Given the description of an element on the screen output the (x, y) to click on. 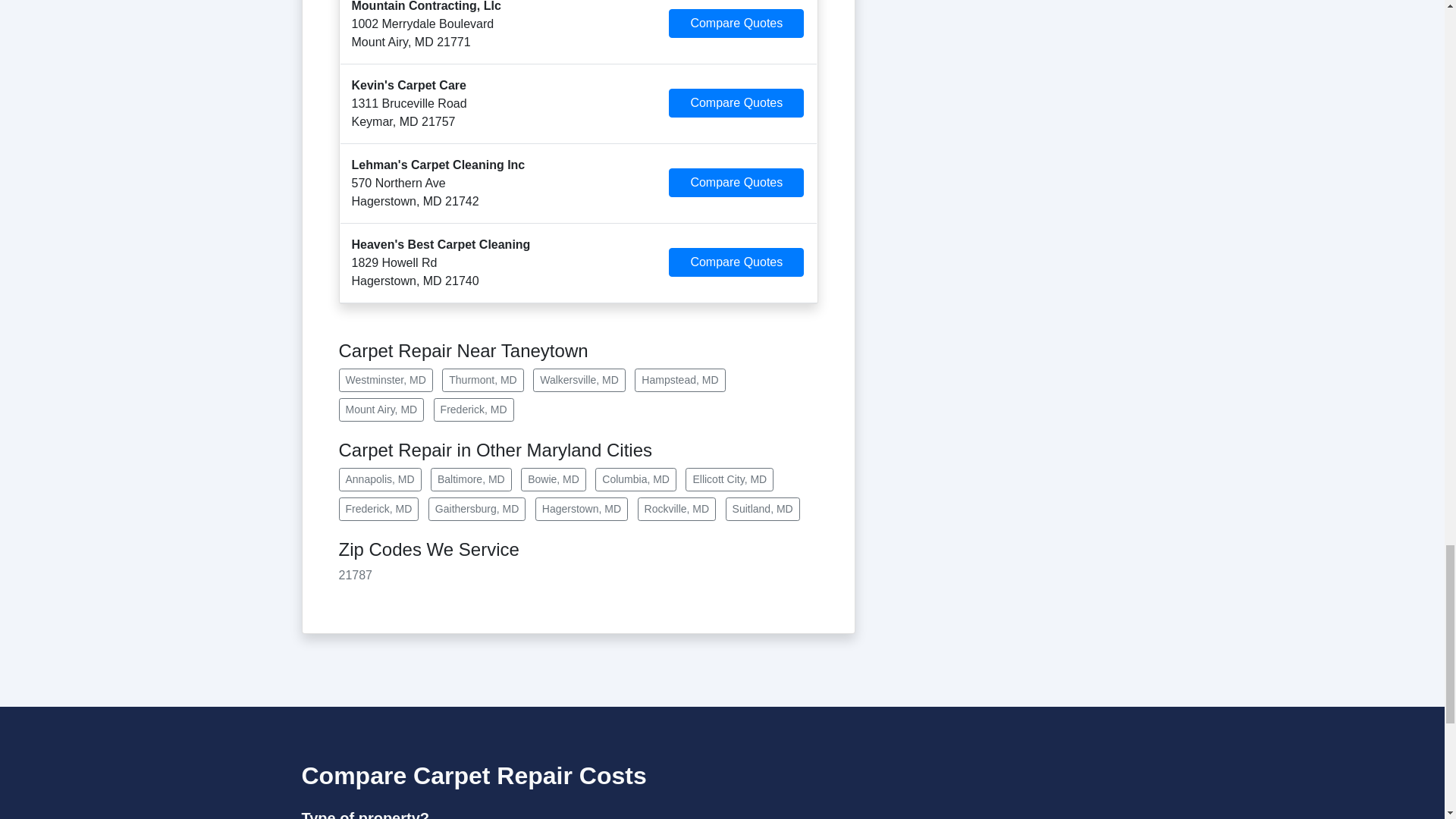
Mount Airy, MD (380, 409)
Rockville, MD (676, 508)
Compare Quotes (735, 262)
Gaithersburg, MD (476, 508)
Hagerstown, MD (581, 508)
Baltimore, MD (471, 479)
Suitland, MD (762, 508)
Bowie, MD (553, 479)
Frederick, MD (378, 508)
Walkersville, MD (579, 380)
Ellicott City, MD (729, 479)
Compare Quotes (735, 23)
Compare Quotes (735, 182)
Compare Quotes (735, 102)
Frederick, MD (473, 409)
